Given the description of an element on the screen output the (x, y) to click on. 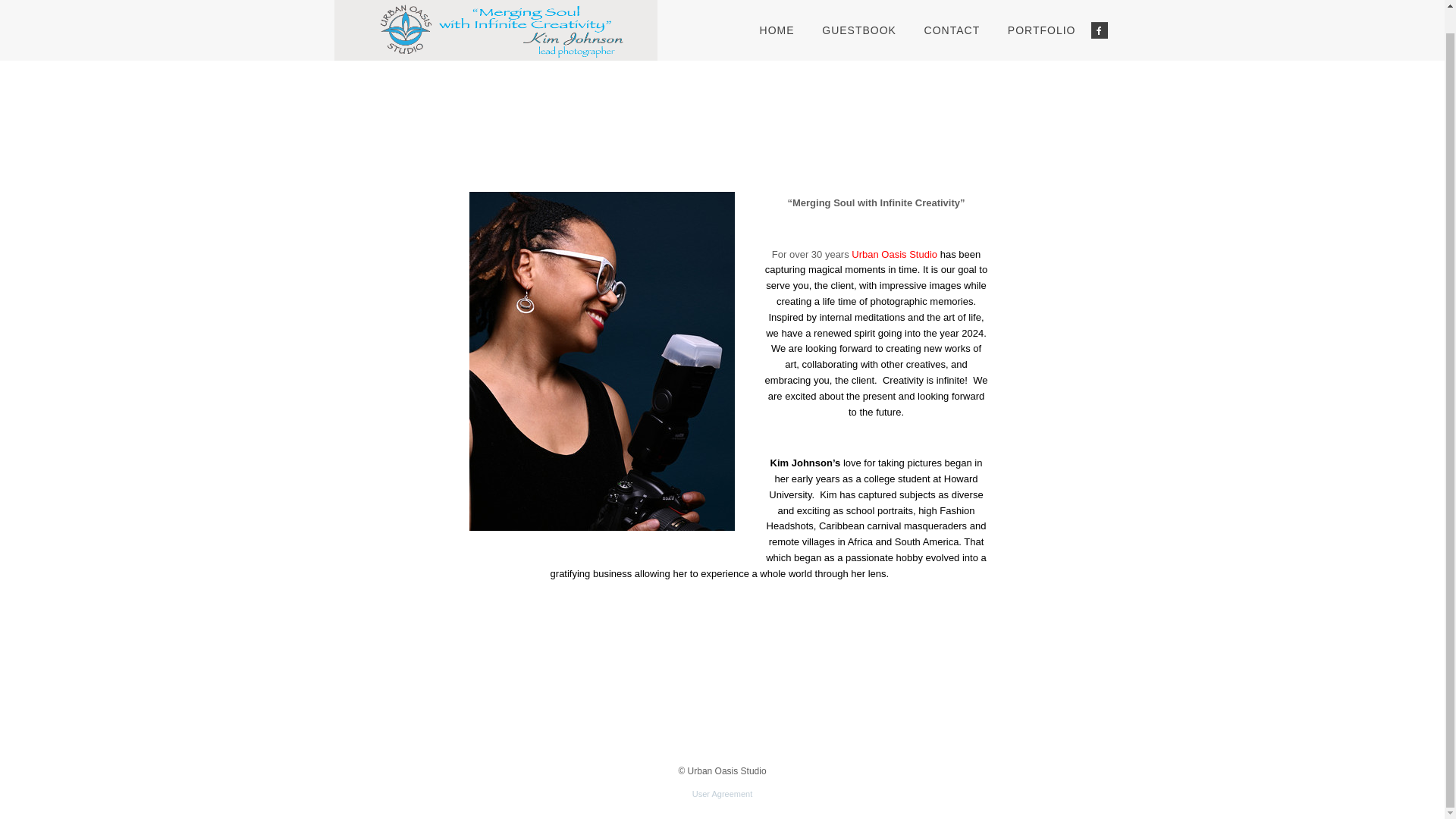
User Agreement (722, 793)
GUESTBOOK (858, 29)
HOME (777, 29)
Urban Oasis Studio (494, 30)
CONTACT (952, 29)
PORTFOLIO (1041, 29)
